Given the description of an element on the screen output the (x, y) to click on. 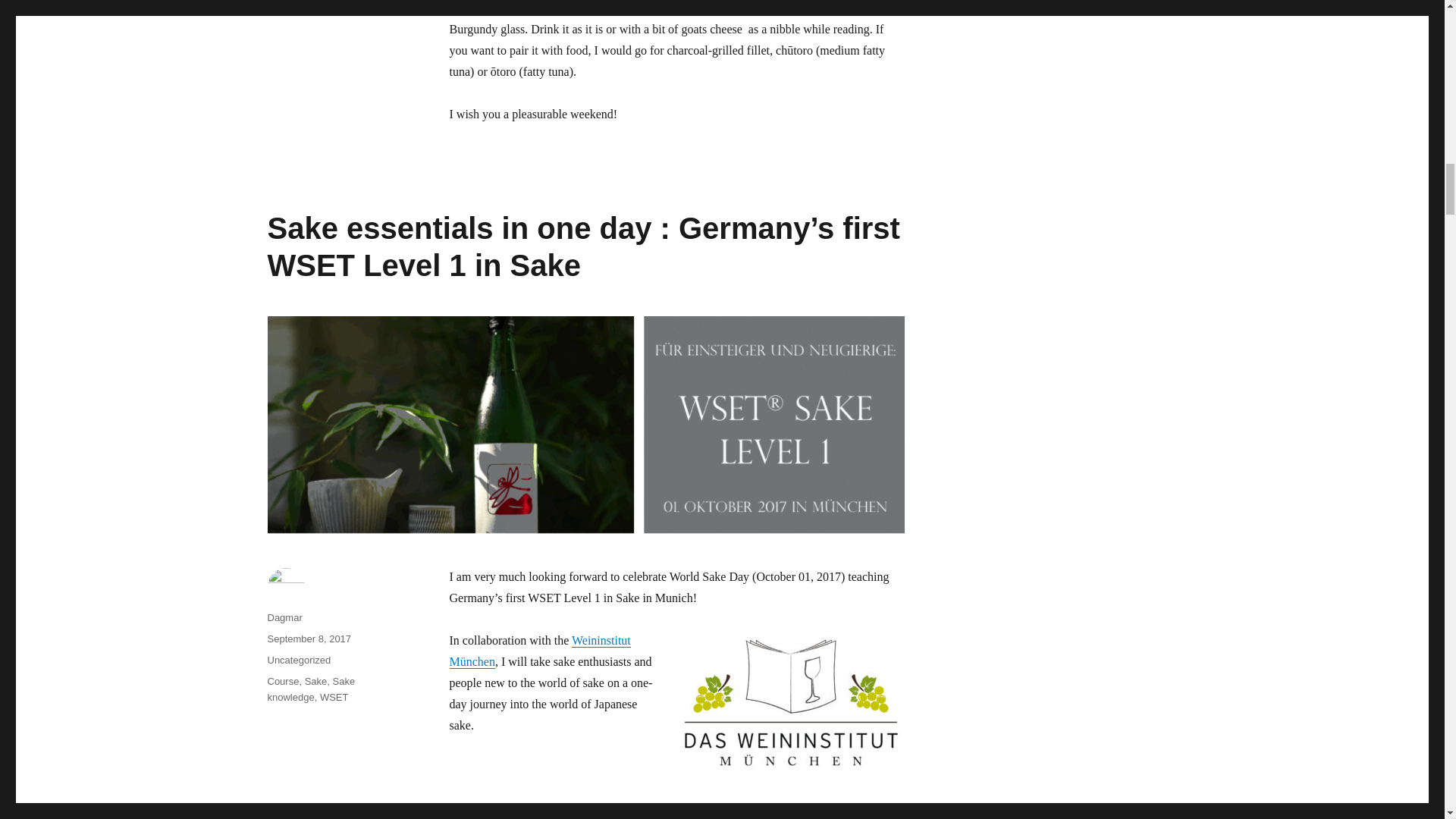
Dagmar (283, 617)
Uncategorized (298, 659)
September 8, 2017 (308, 638)
German section of this blog (660, 811)
Sake (315, 681)
Course (282, 681)
